Given the description of an element on the screen output the (x, y) to click on. 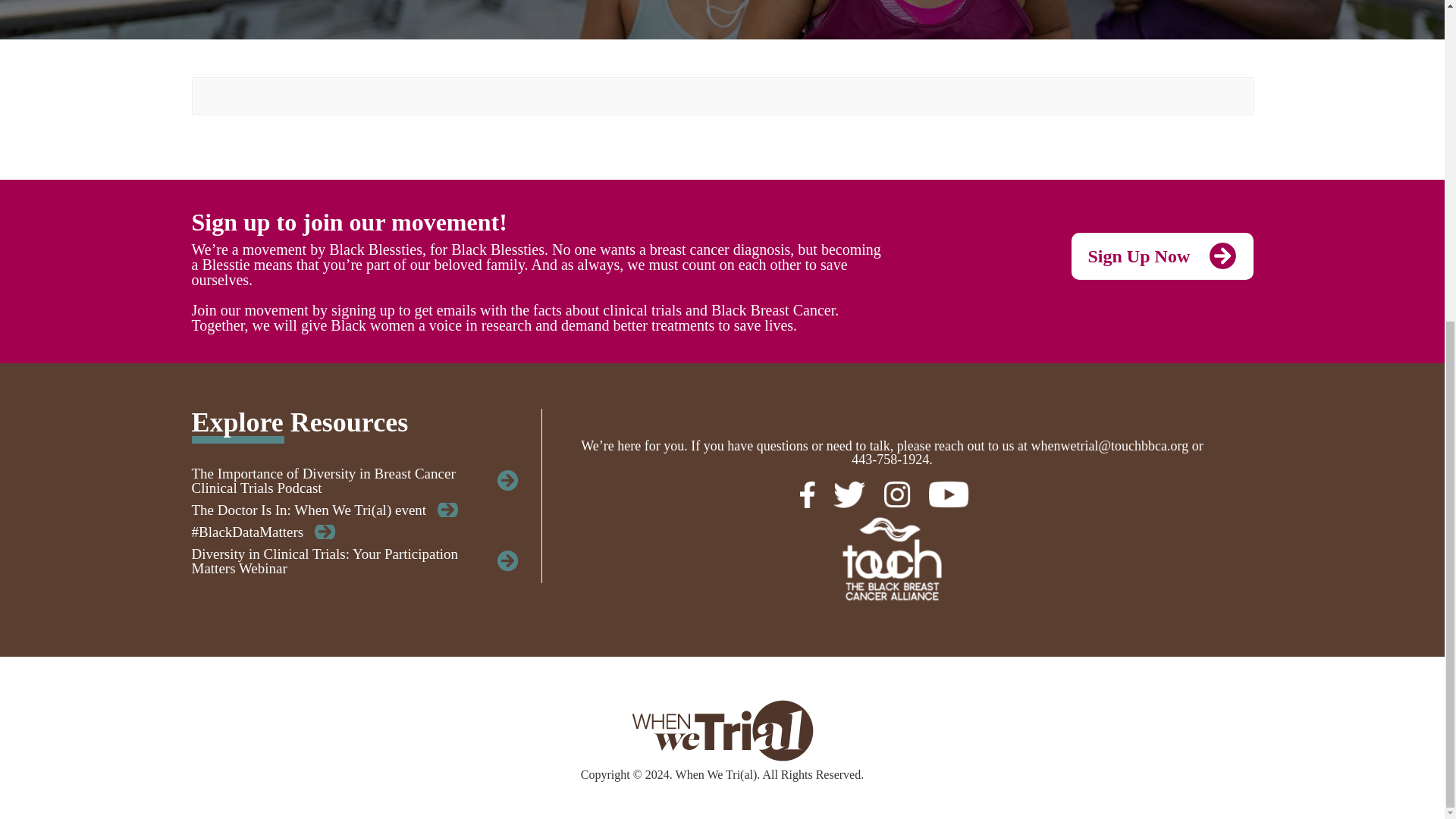
Sign Up Now (1161, 256)
